Given the description of an element on the screen output the (x, y) to click on. 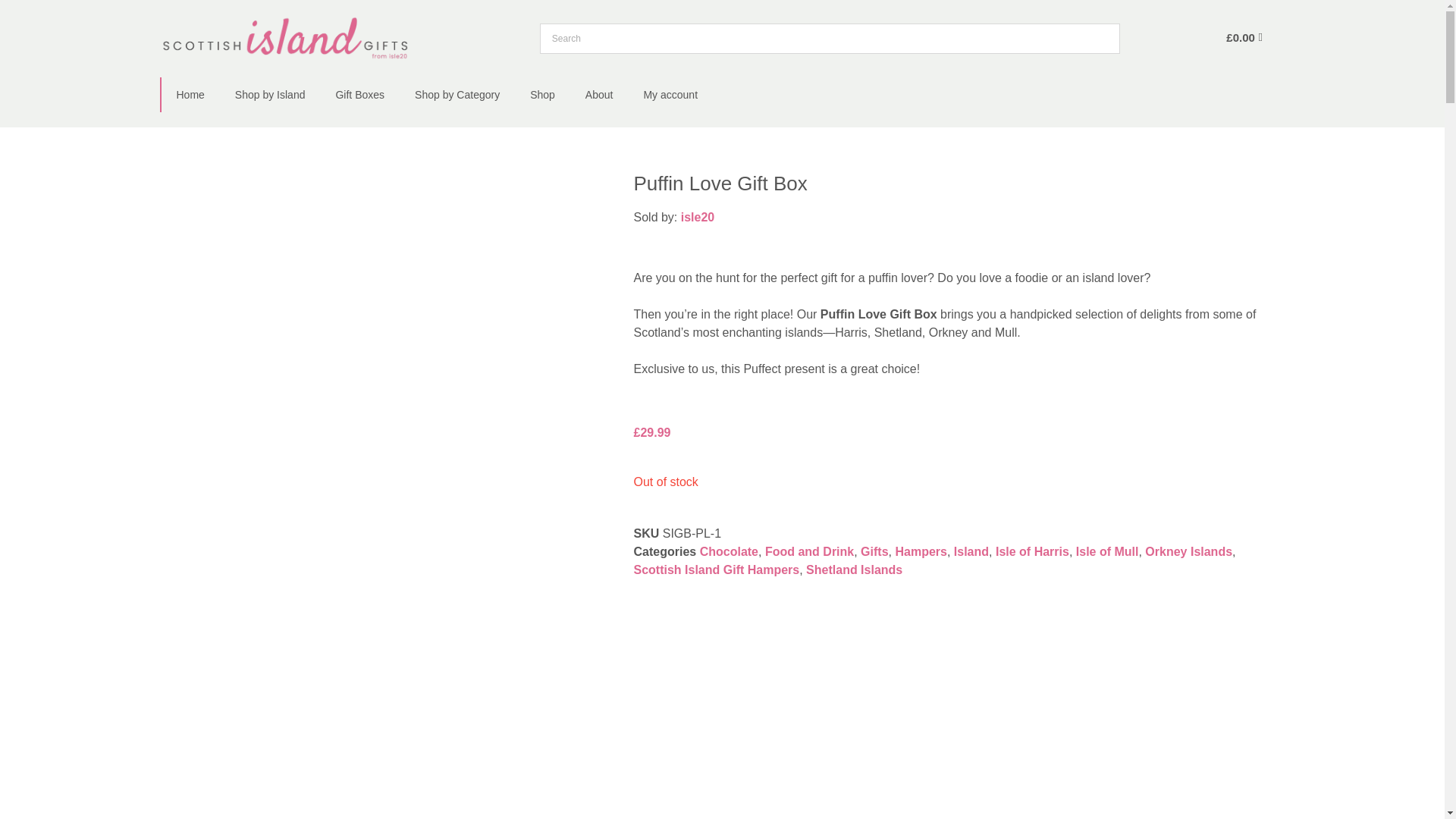
About (599, 94)
Home (189, 94)
Shop by Category (456, 94)
Shop (542, 94)
Shop by Island (269, 94)
Gift Boxes (359, 94)
My account (670, 94)
